Given the description of an element on the screen output the (x, y) to click on. 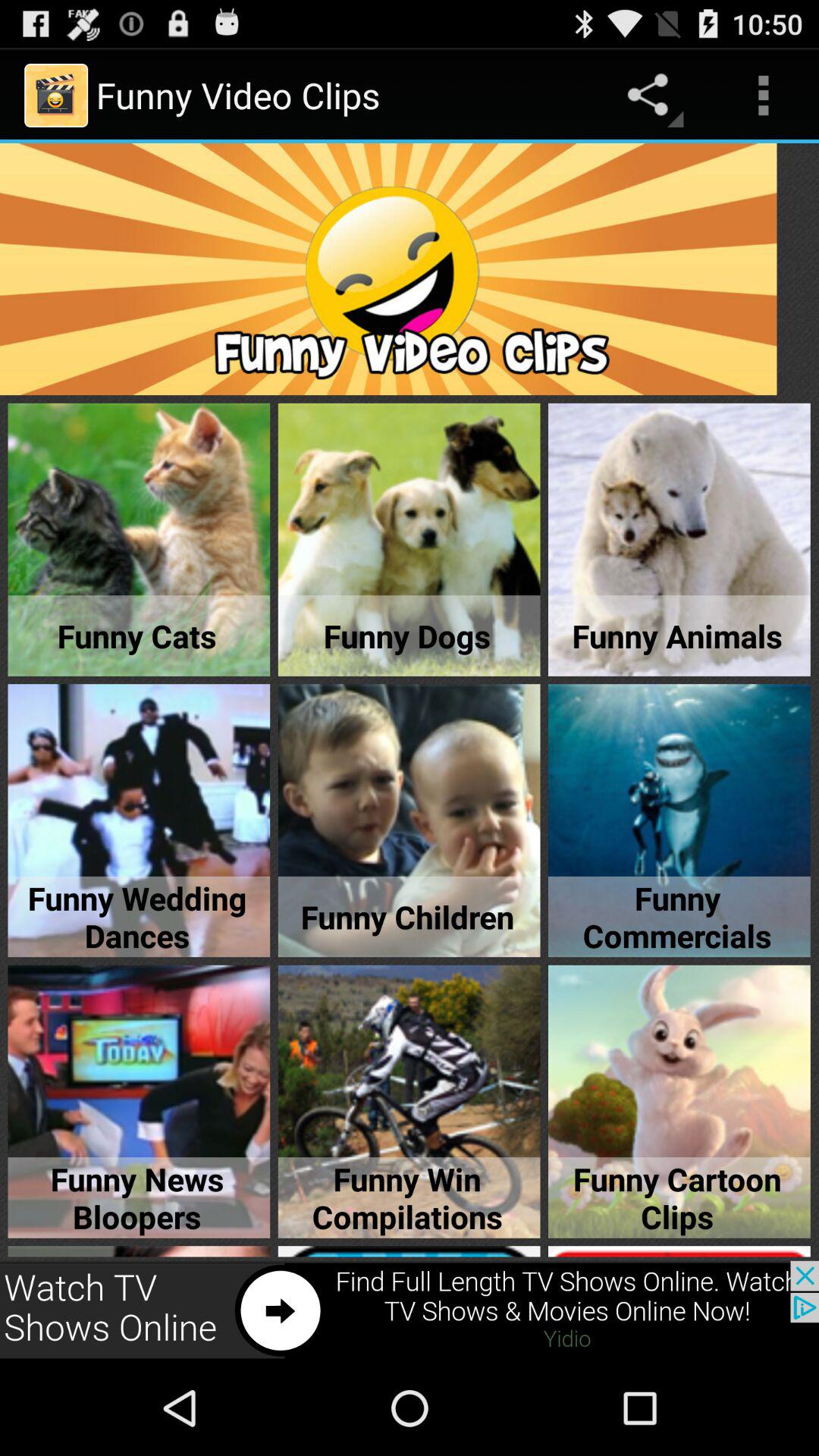
news button (409, 1310)
